Given the description of an element on the screen output the (x, y) to click on. 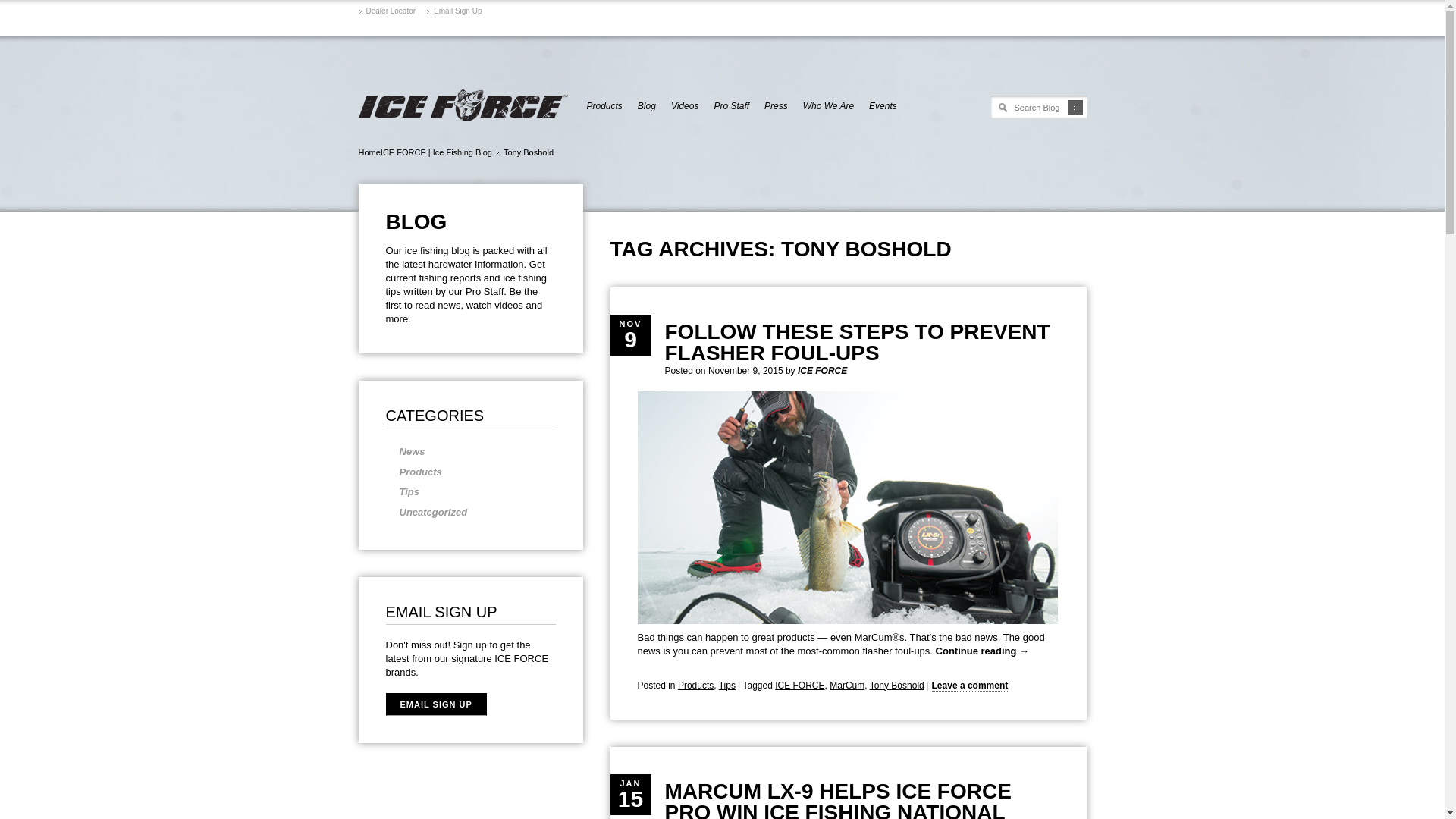
Events (882, 106)
Search (1075, 107)
Tony Boshold (524, 151)
News (469, 452)
BLOG (469, 221)
Videos (684, 106)
Products (604, 106)
Products (469, 472)
Search (1075, 107)
Pro Staff (731, 106)
Dealer Locator (386, 11)
Email Sign Up (453, 11)
Uncategorized (469, 512)
Email Sign Up (453, 11)
Who We Are (828, 106)
